Given the description of an element on the screen output the (x, y) to click on. 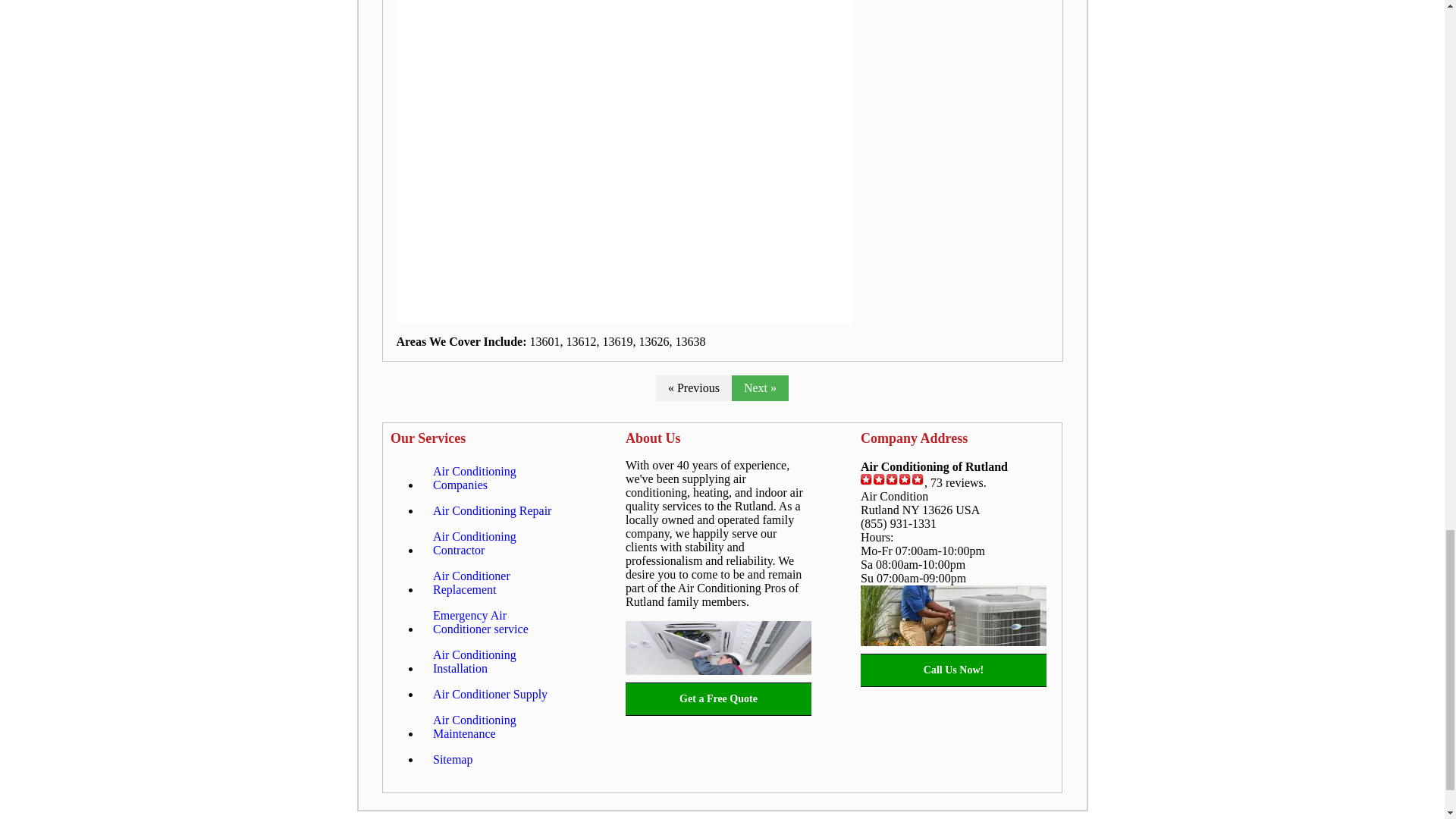
Call Us Now! (953, 670)
Air Conditioning Repair (491, 510)
Get a Free Quote (718, 699)
Air Conditioning Contractor (498, 543)
Air Conditioning Maintenance (498, 726)
Sitemap (452, 759)
Air Conditioner Replacement (498, 582)
Air Conditioning Companies (498, 477)
Air Conditioner Supply (489, 694)
Emergency Air Conditioner service (498, 622)
Air Conditioning Installation (498, 661)
